Given the description of an element on the screen output the (x, y) to click on. 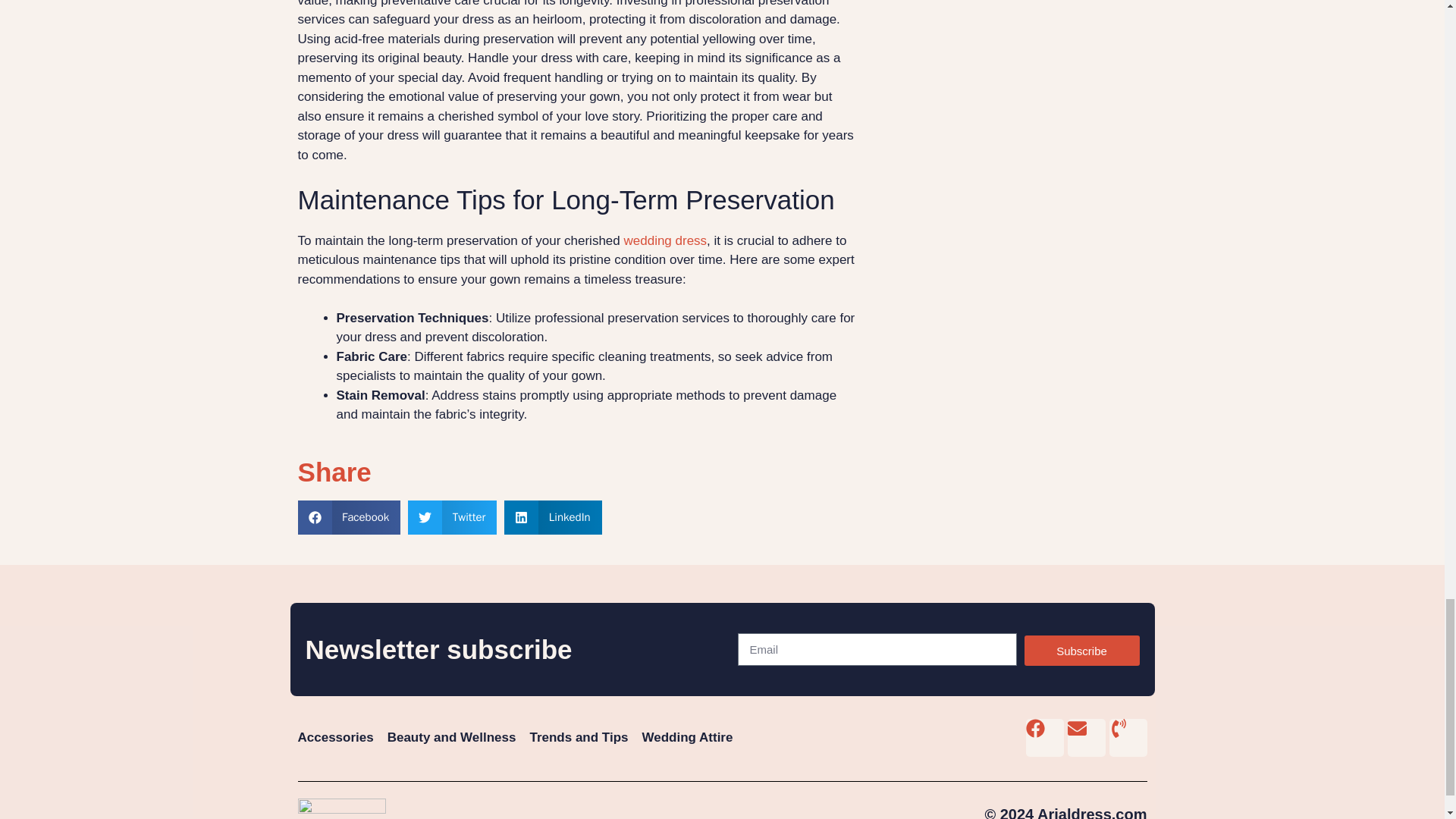
Beauty and Wellness (451, 737)
Accessories (334, 737)
wedding dress (664, 240)
Wedding Attire (687, 737)
Trends and Tips (578, 737)
Subscribe (1080, 650)
